Given the description of an element on the screen output the (x, y) to click on. 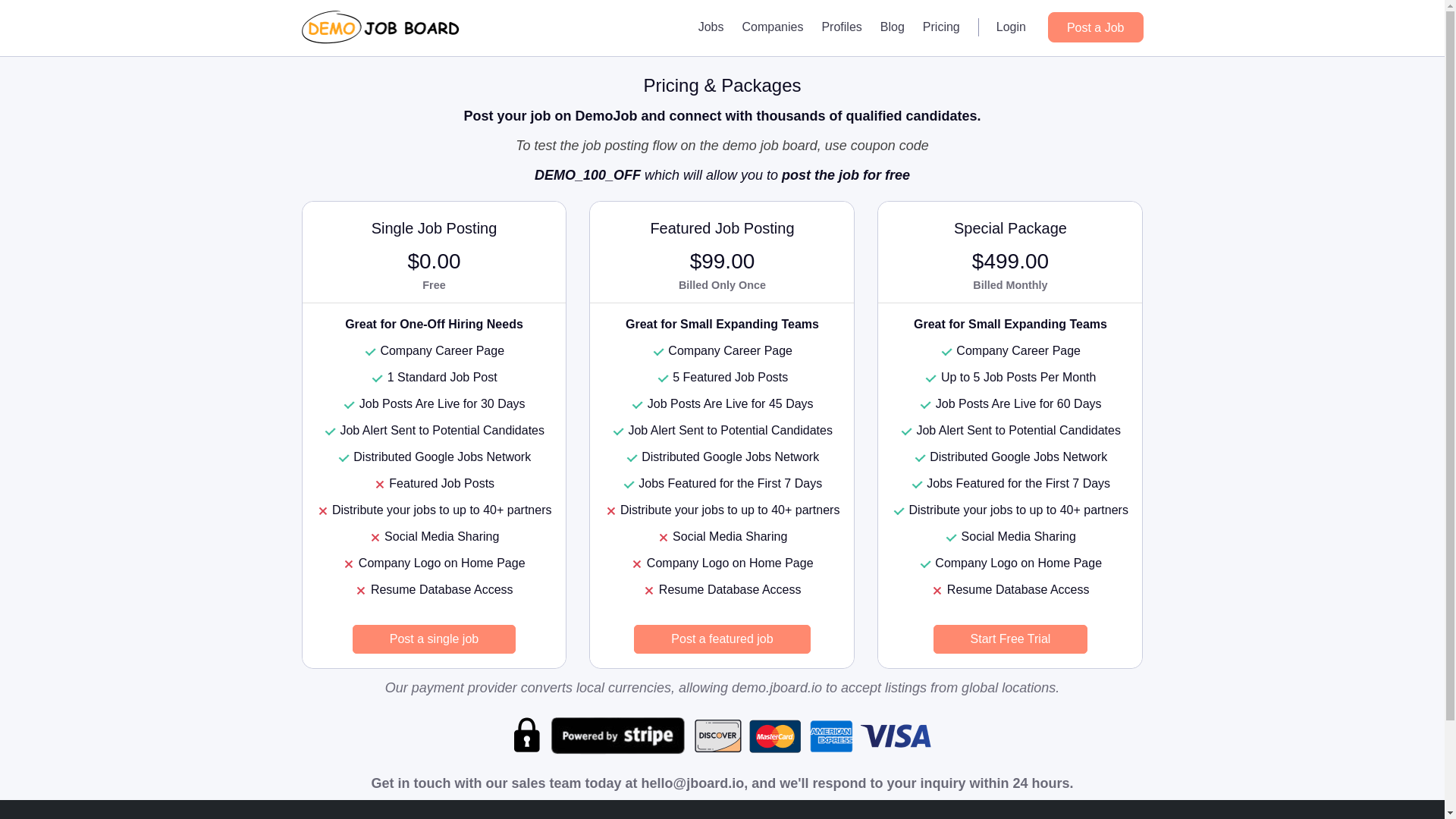
Companies (772, 26)
Post a featured job (721, 638)
Start Free Trial (1010, 638)
Post a Job (1095, 27)
Profiles (841, 26)
Login (1011, 26)
Pricing (941, 26)
Post a single job (433, 638)
Blog (892, 26)
Jobs (710, 26)
